Given the description of an element on the screen output the (x, y) to click on. 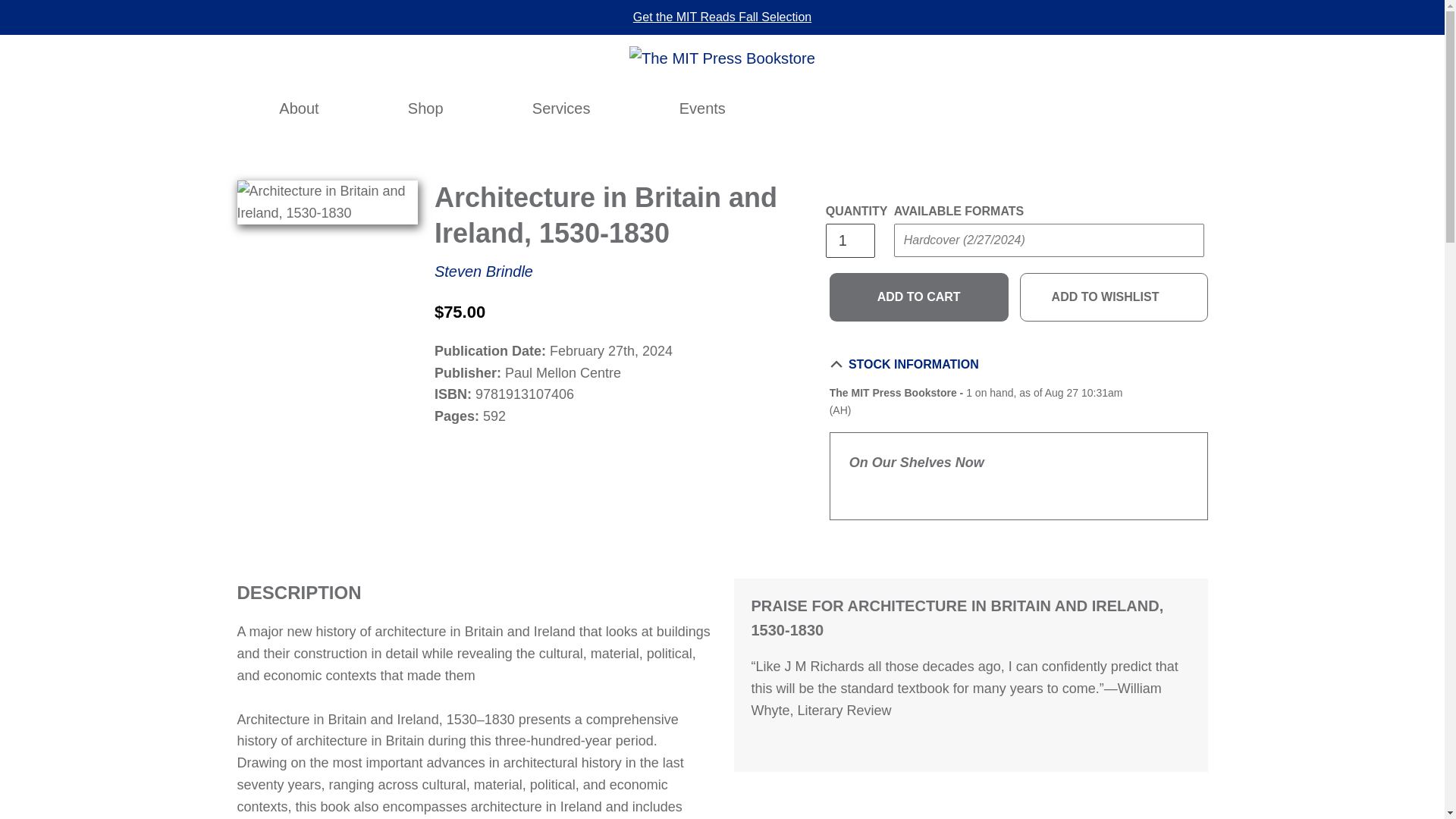
Get the MIT Reads Fall Selection (721, 16)
Services (561, 108)
Log in (1022, 108)
Link to mit press bookstore events listing (702, 108)
Search (989, 108)
Steven Brindle (482, 271)
Add to cart (919, 296)
Log in (1022, 108)
Wishlists (1055, 108)
